Given the description of an element on the screen output the (x, y) to click on. 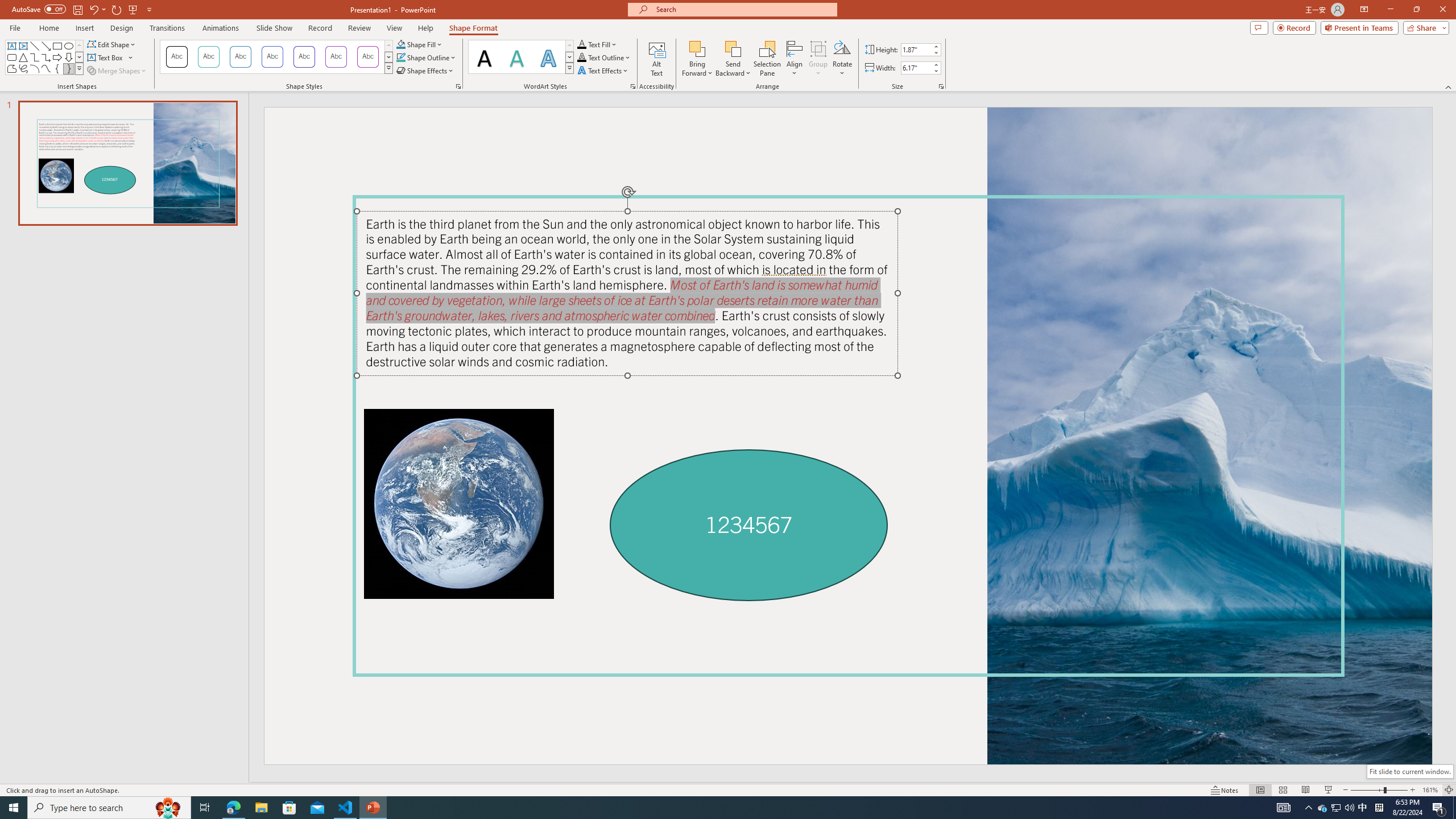
Close (1442, 9)
Zoom (1379, 790)
Zoom In (1412, 790)
Size and Position... (941, 85)
Rotate (841, 58)
Restore Down (1416, 9)
System (6, 6)
Edit Shape (112, 44)
File Tab (15, 27)
AutomationID: ShapesInsertGallery (44, 57)
Connector: Elbow Arrow (46, 57)
Isosceles Triangle (23, 57)
Colored Outline - Black, Dark 1 (176, 56)
Fill: Teal, Accent color 1; Shadow (516, 56)
Shape Fill Aqua, Accent 2 (400, 44)
